Given the description of an element on the screen output the (x, y) to click on. 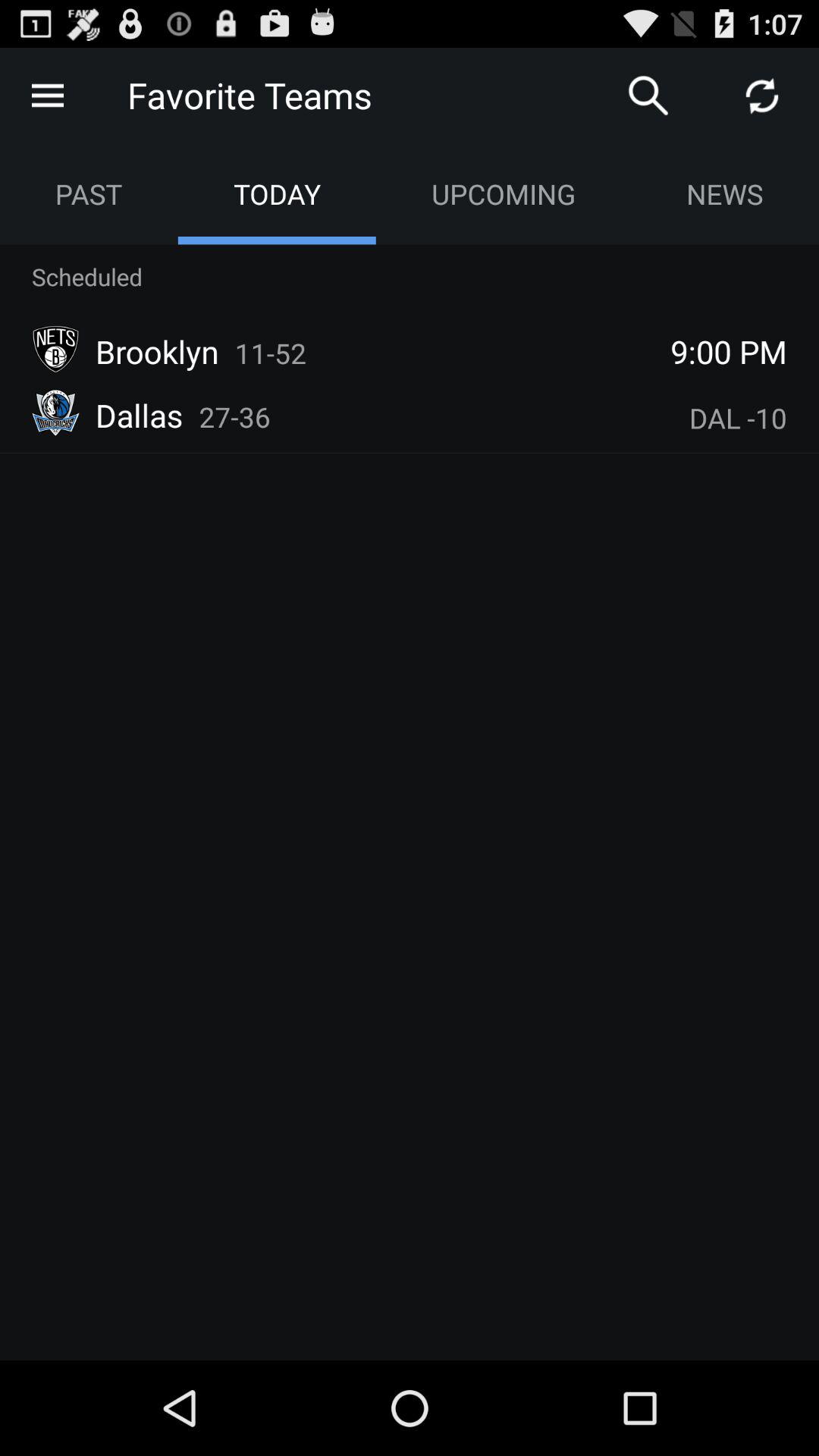
select item to the right of the brooklyn icon (270, 352)
